Given the description of an element on the screen output the (x, y) to click on. 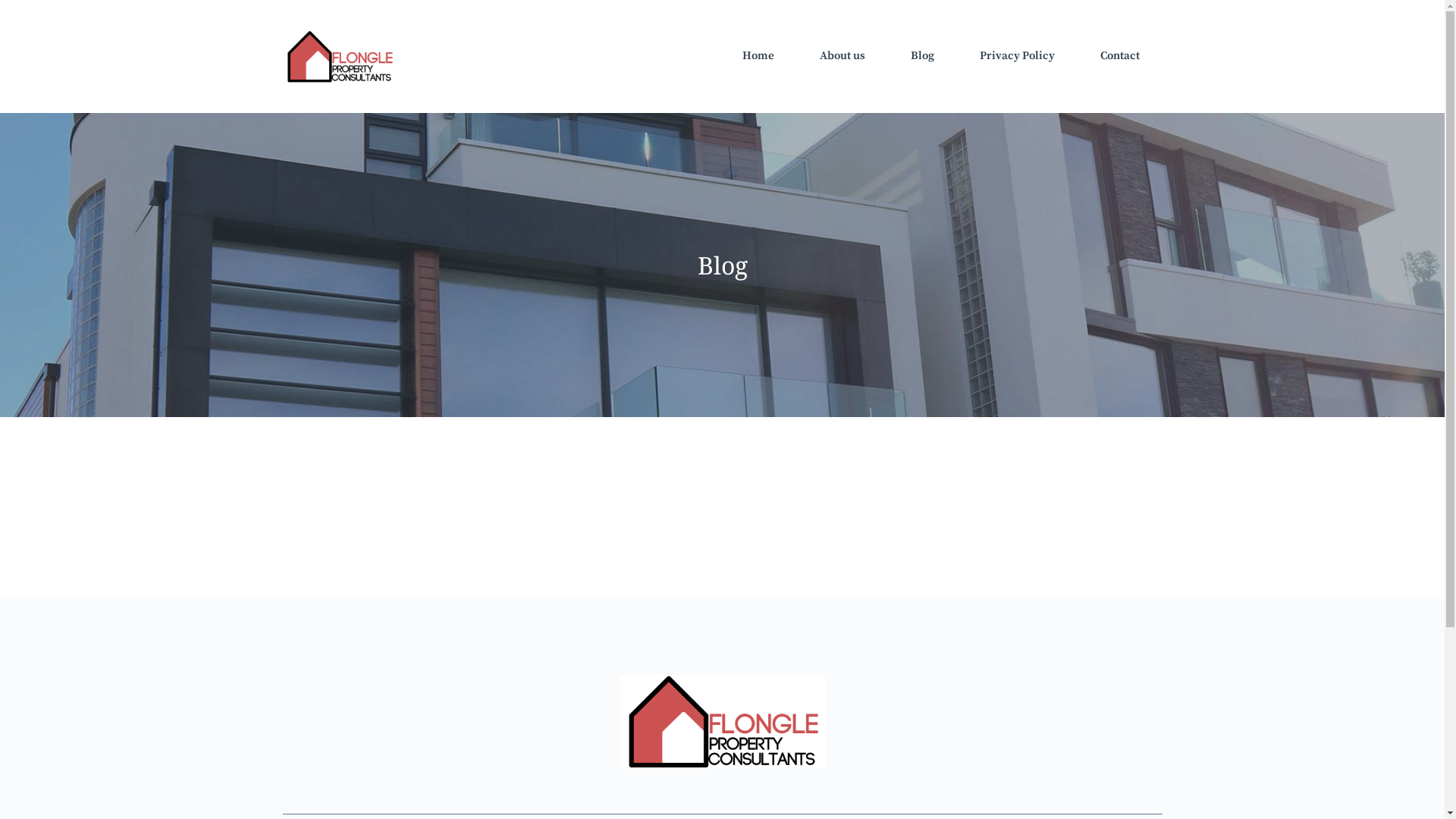
Contact Element type: text (1118, 55)
Blog Element type: text (921, 55)
Privacy Policy Element type: text (1017, 55)
Home Element type: text (757, 55)
About us Element type: text (841, 55)
